Given the description of an element on the screen output the (x, y) to click on. 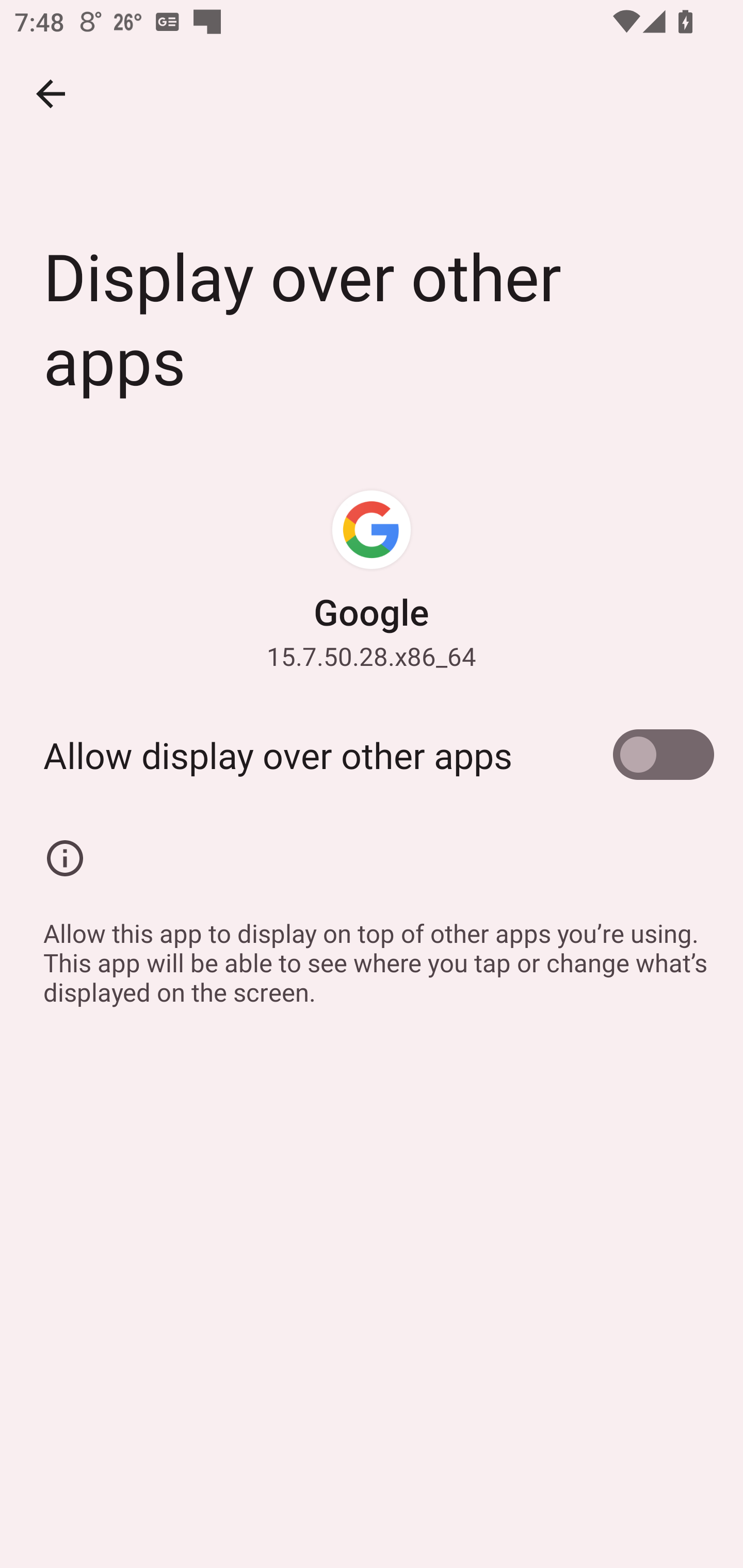
Navigate up (50, 93)
Google 15.7.50.28.x86_64 (371, 579)
Allow display over other apps (371, 754)
